Given the description of an element on the screen output the (x, y) to click on. 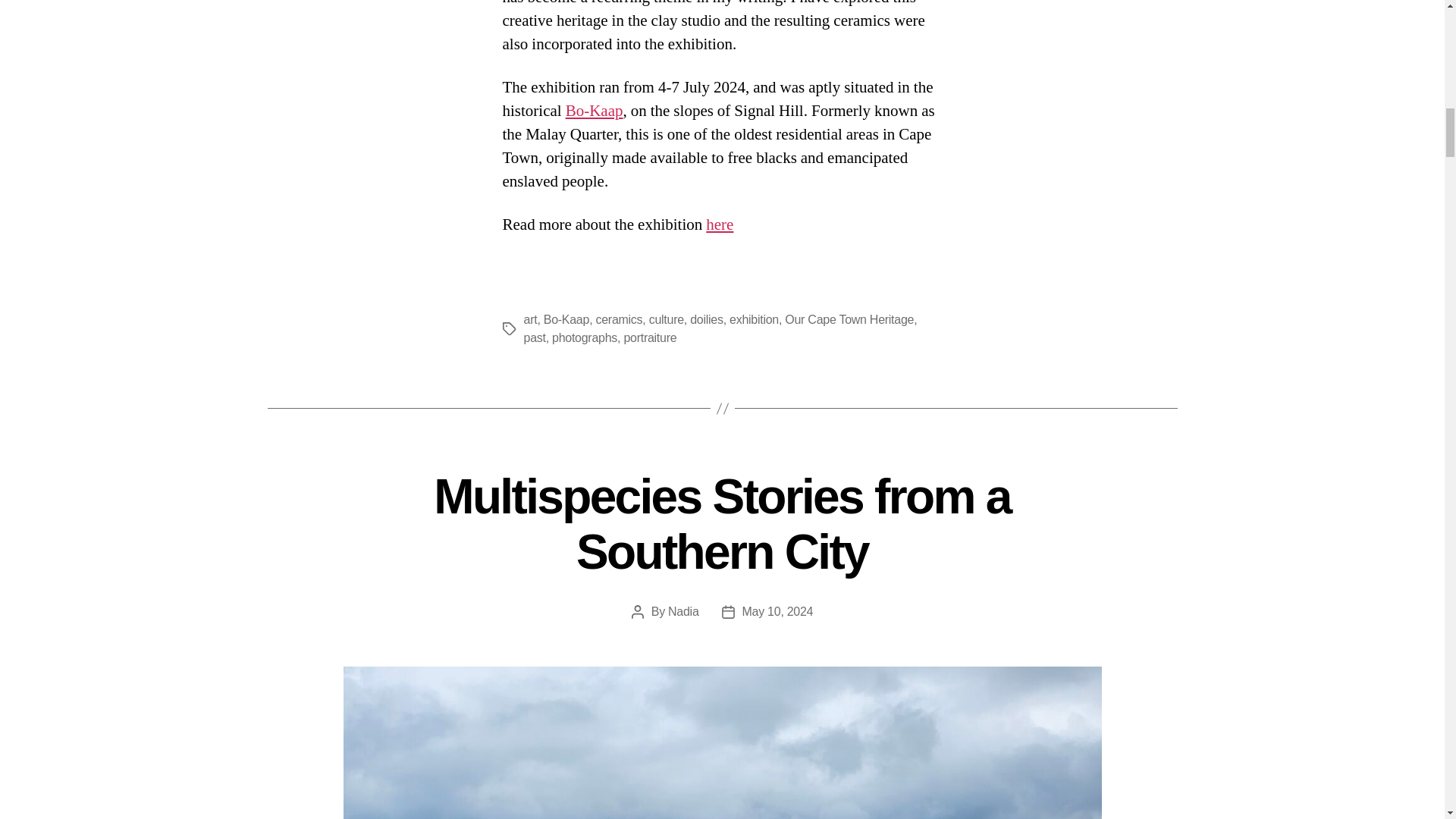
Our Cape Town Heritage (849, 318)
art (529, 318)
photographs (584, 337)
Bo-Kaap (566, 318)
here (719, 224)
Nadia (683, 611)
doilies (706, 318)
culture (666, 318)
past (533, 337)
Bo-Kaap (594, 110)
exhibition (753, 318)
portraiture (650, 337)
Multispecies Stories from a Southern City (721, 524)
ceramics (618, 318)
May 10, 2024 (777, 611)
